Given the description of an element on the screen output the (x, y) to click on. 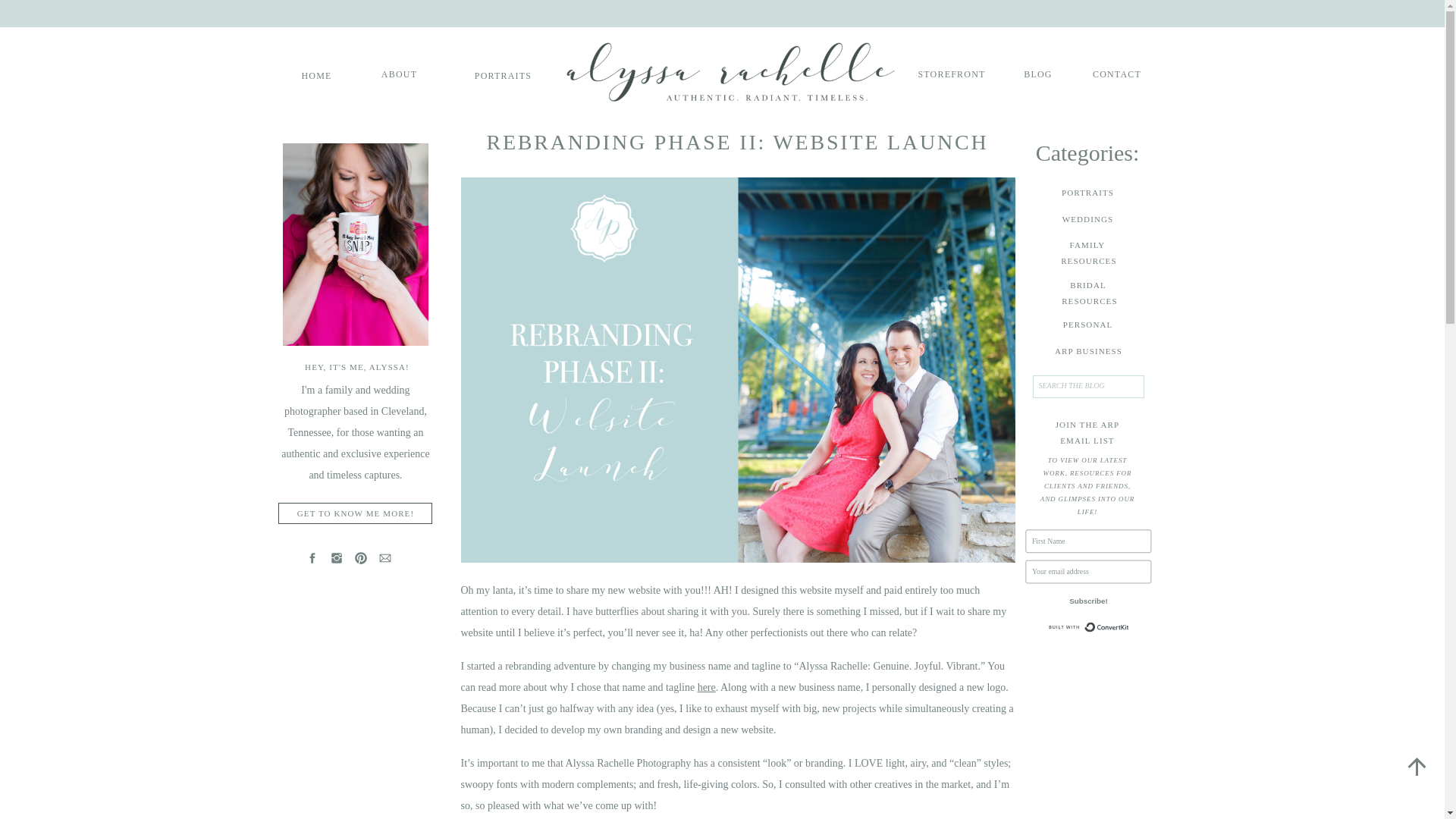
Subscribe! (1121, 605)
HOME (1087, 292)
ARP BUSINESS (316, 74)
ABOUT (1088, 351)
BLOG (399, 73)
GET TO KNOW ME MORE! (1038, 73)
PORTRAITS (355, 513)
Built with ConvertKit (1087, 251)
